Given the description of an element on the screen output the (x, y) to click on. 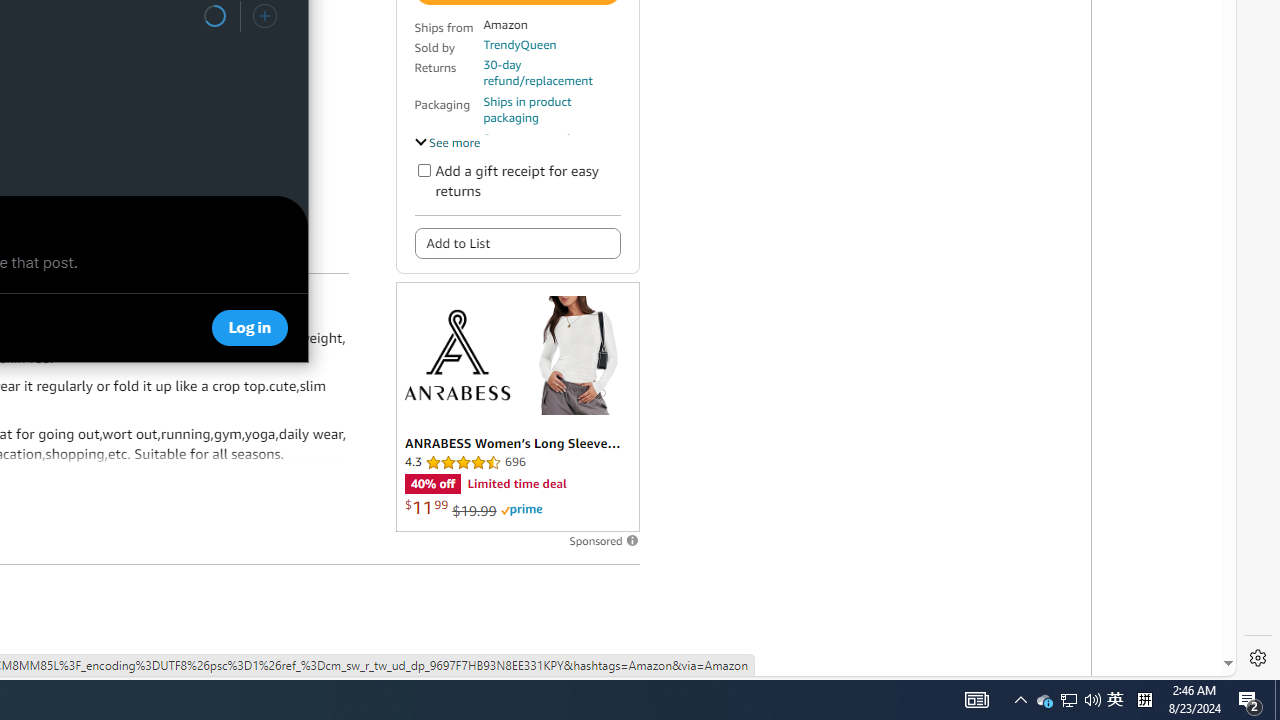
User Promoted Notification Area (1068, 699)
TrendyQueen (519, 43)
Ships in product packaging (551, 109)
Add post (264, 16)
Add a gift receipt for easy returns (424, 170)
Secure transaction (533, 138)
Prime (521, 509)
